Given the description of an element on the screen output the (x, y) to click on. 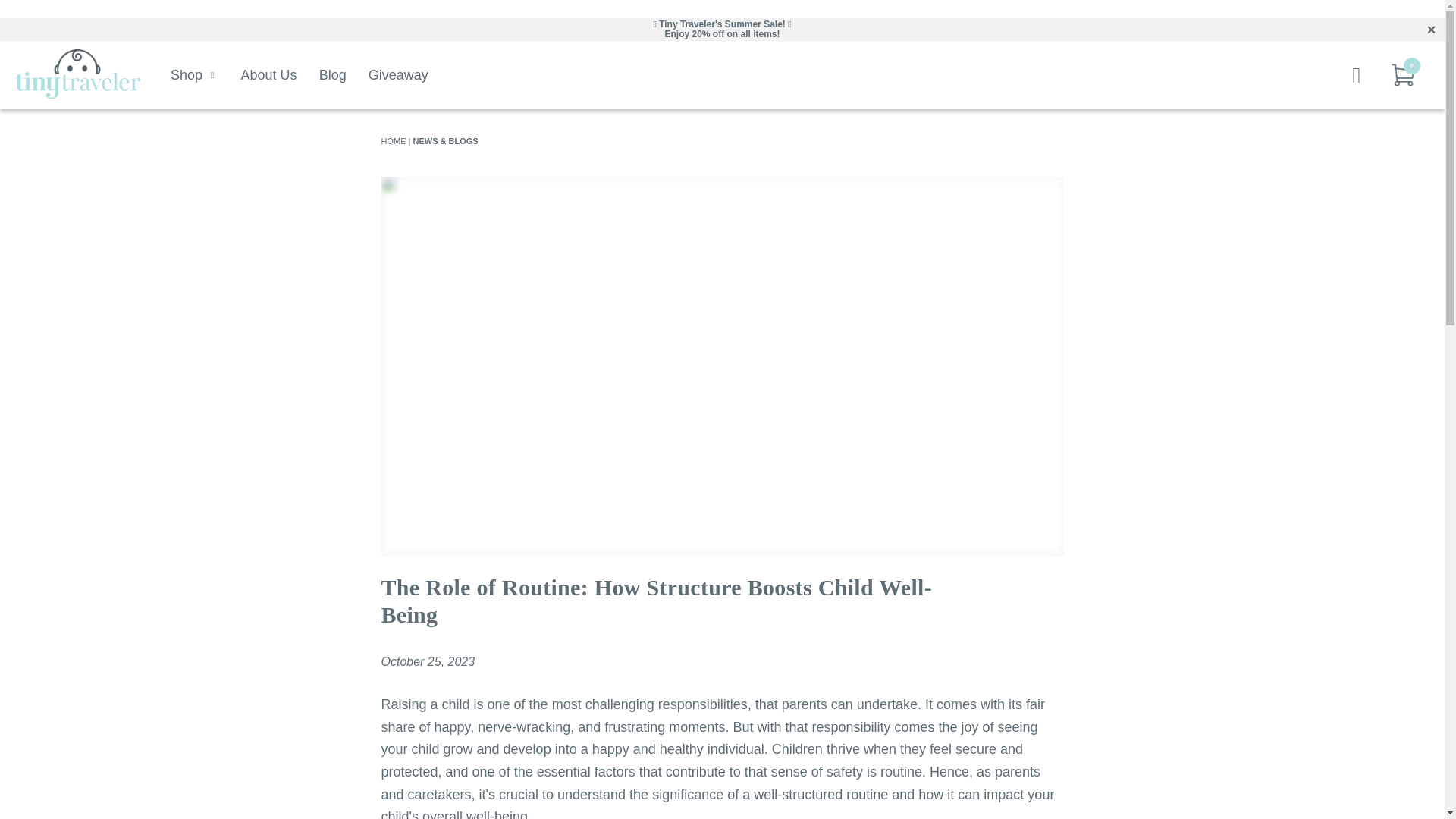
HOME (393, 140)
About Us (268, 74)
Tiny Traveler (76, 75)
Tiny Traveler (393, 140)
0 (1402, 74)
Giveaway (398, 74)
Shop (194, 74)
